Given the description of an element on the screen output the (x, y) to click on. 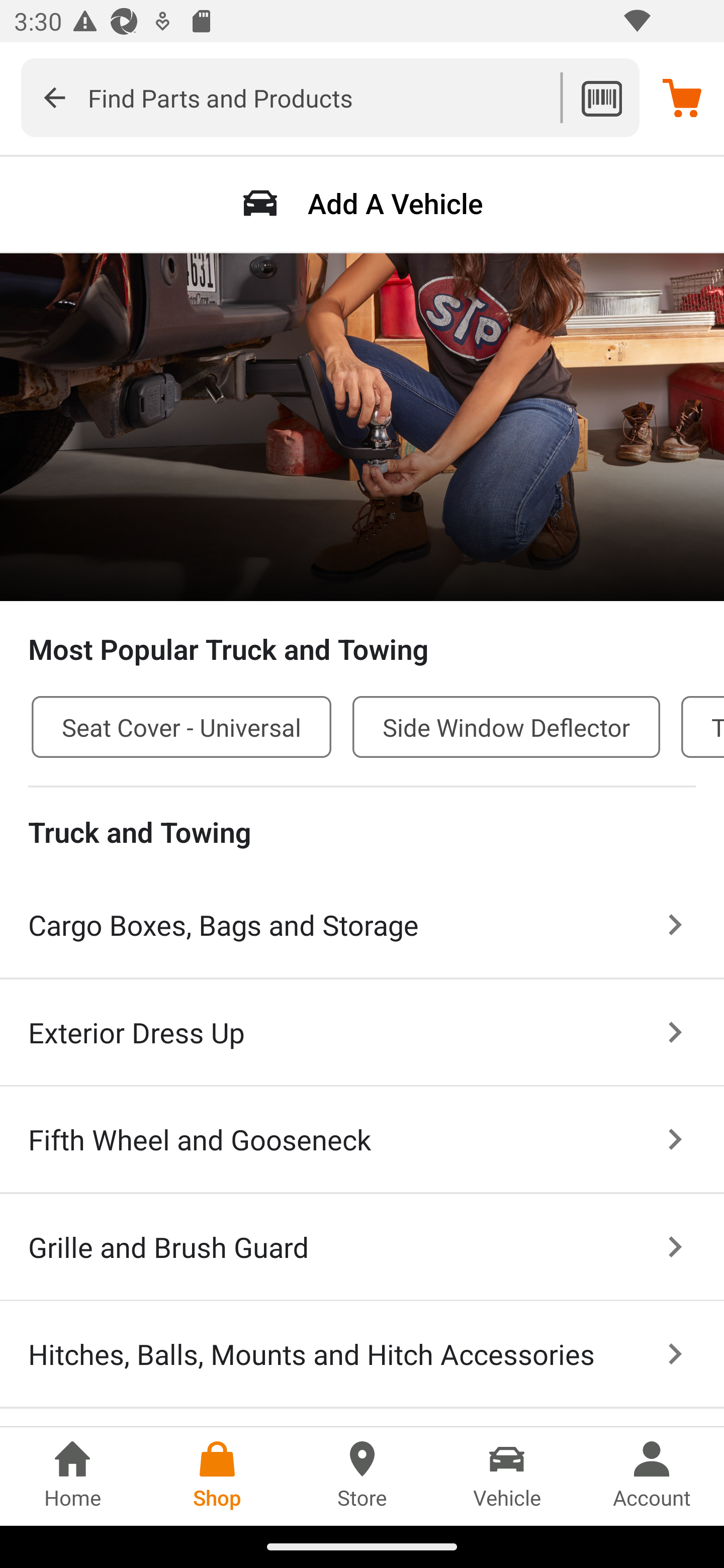
 scan-product-to-search  (601, 97)
 (54, 97)
Cart, no items  (681, 97)
add-vehicle-button  Add A Vehicle (362, 202)
Seat Cover - Universal (181, 726)
Side Window Deflector (506, 726)
Exterior Dress Up category Exterior Dress Up  (362, 1033)
Home (72, 1475)
Shop (216, 1475)
Store (361, 1475)
Vehicle (506, 1475)
Account (651, 1475)
